Given the description of an element on the screen output the (x, y) to click on. 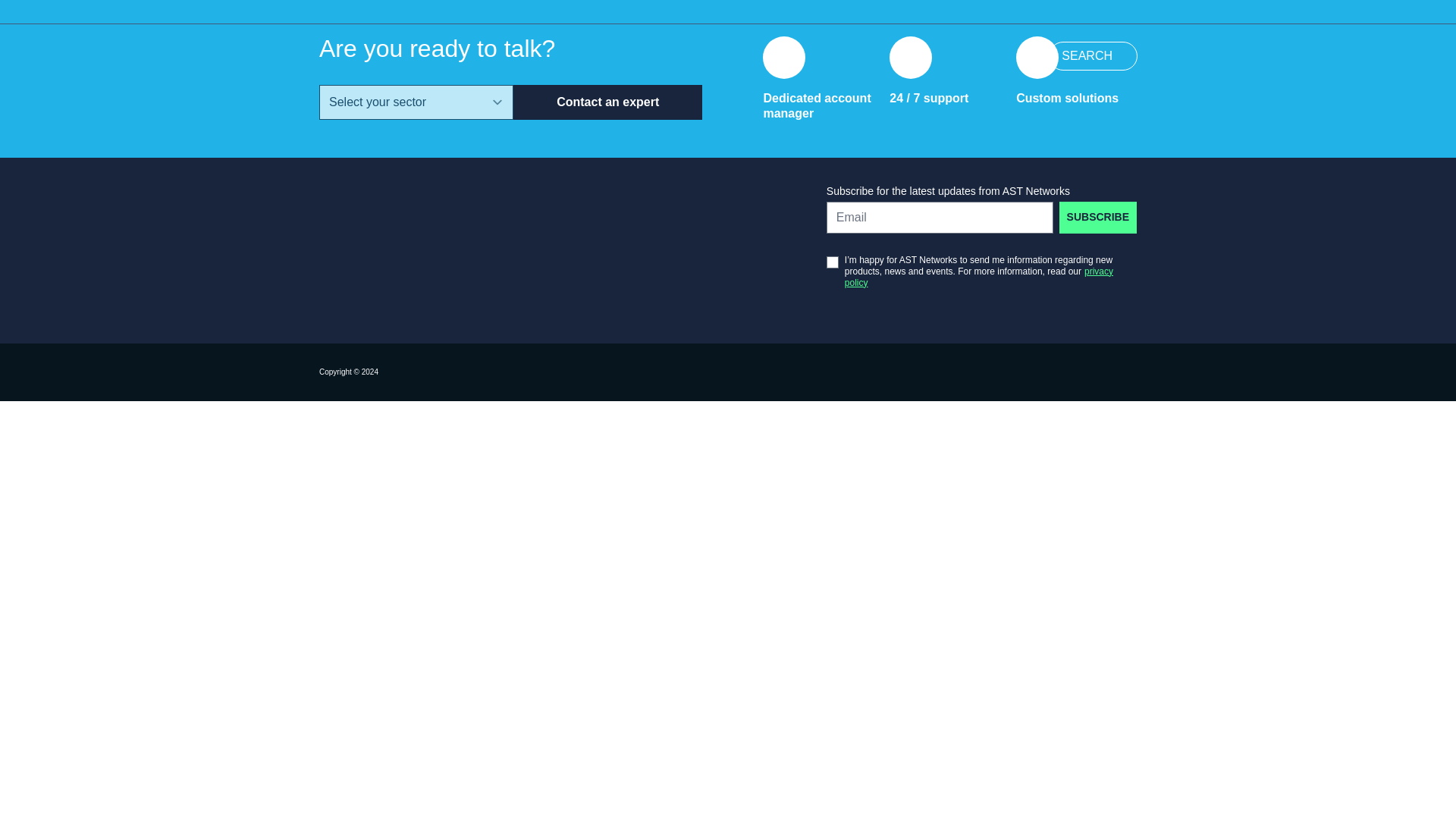
Contact an expert (1093, 55)
on (607, 102)
SUBSCRIBE (832, 262)
privacy policy (1098, 217)
